Given the description of an element on the screen output the (x, y) to click on. 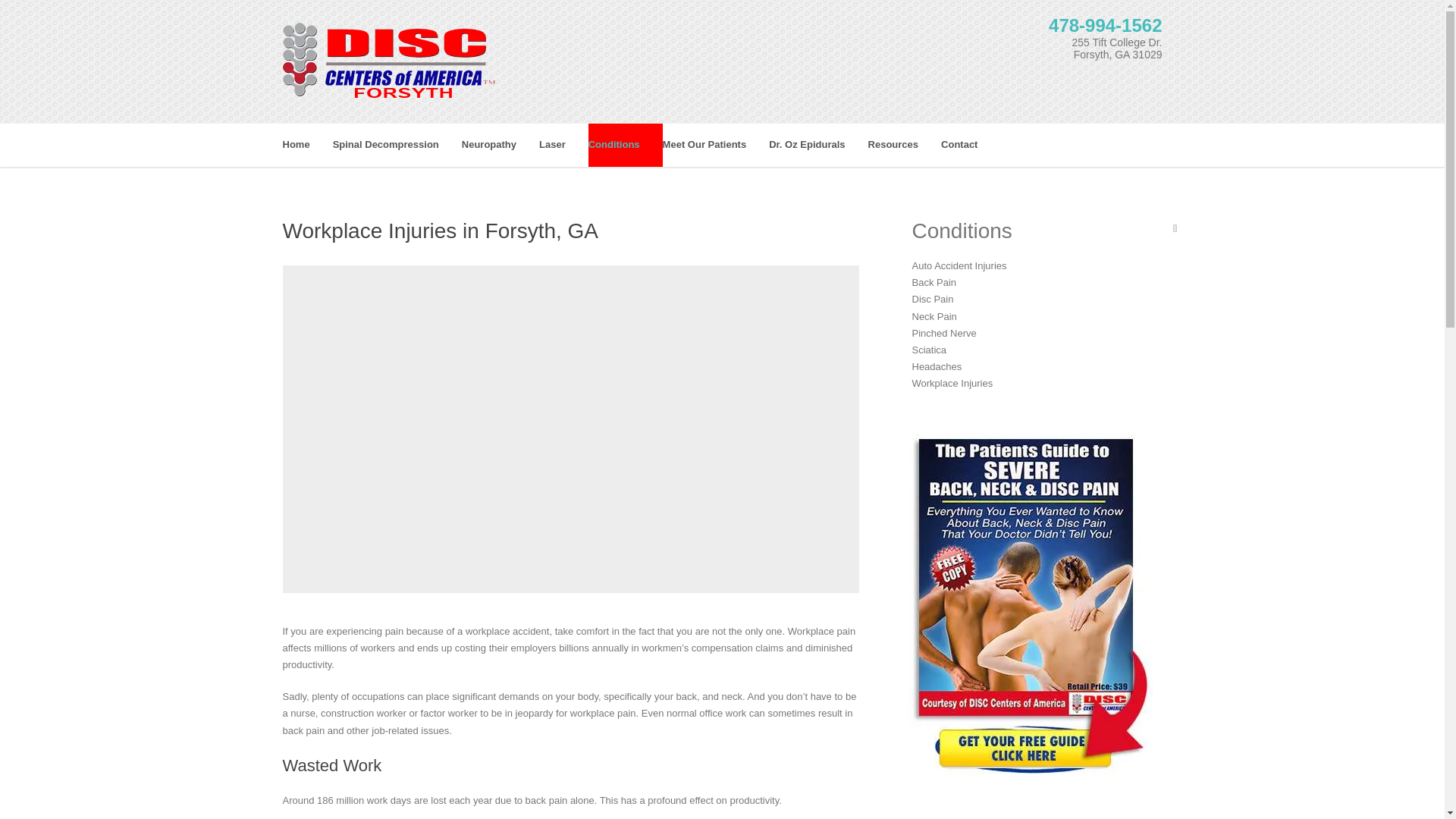
Conditions (625, 145)
Dr. Oz Epidurals (817, 145)
478-994-1562 (1104, 25)
Spinal Decompression (397, 145)
Bob-Work (571, 326)
Meet Our Patients (716, 145)
Home (306, 145)
Contact (970, 145)
Resources (903, 145)
Neuropathy (499, 145)
Laser (563, 145)
